Given the description of an element on the screen output the (x, y) to click on. 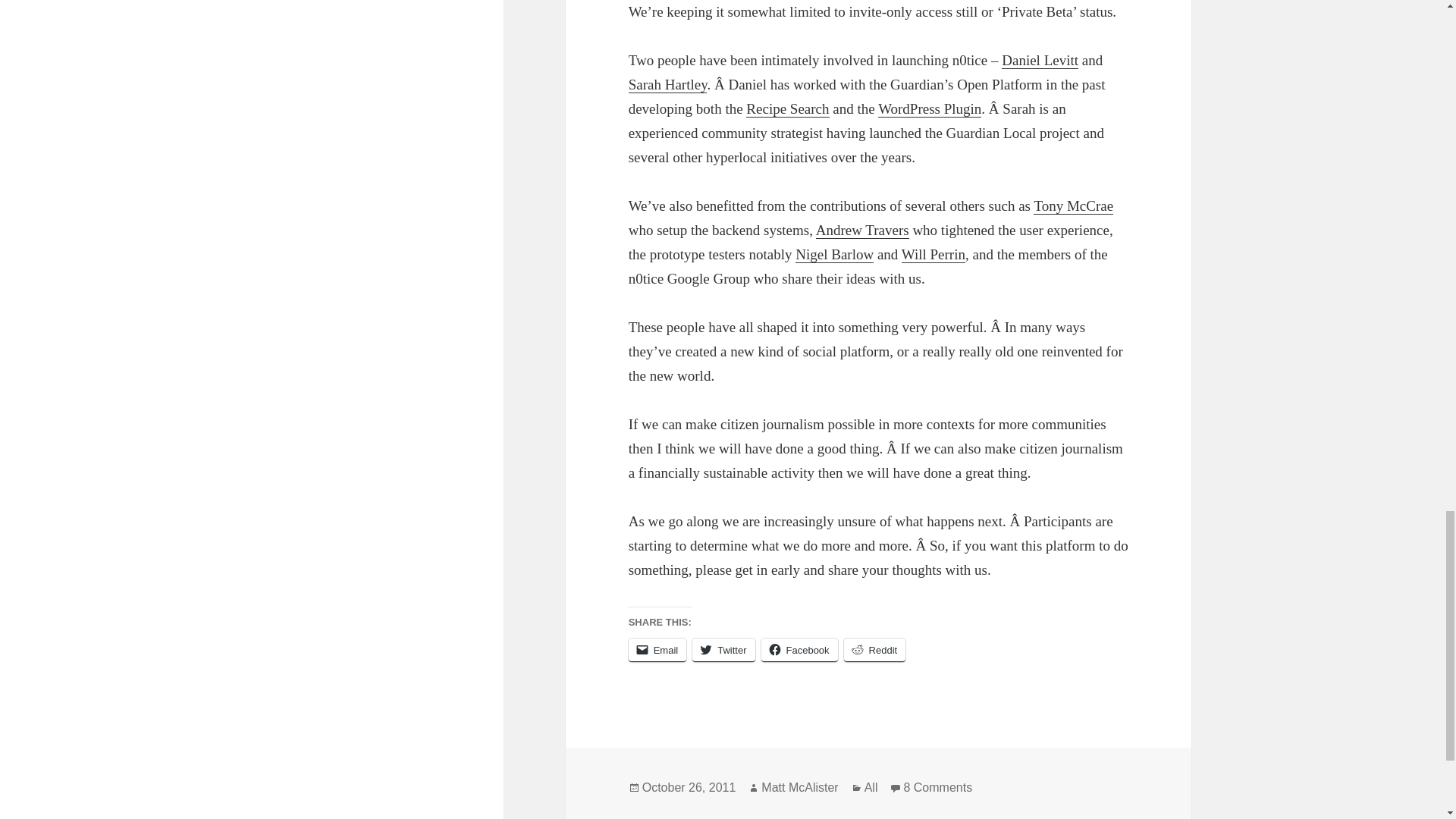
Andrew Travers (861, 230)
Click to email a link to a friend (657, 649)
Nigel Barlow (833, 254)
Click to share on Twitter (723, 649)
Will Perrin (933, 254)
Daniel Levitt (1039, 60)
Sarah Hartley (667, 84)
WordPress Plugin (929, 108)
Recipe Search (786, 108)
Tony McCrae (1073, 206)
